Given the description of an element on the screen output the (x, y) to click on. 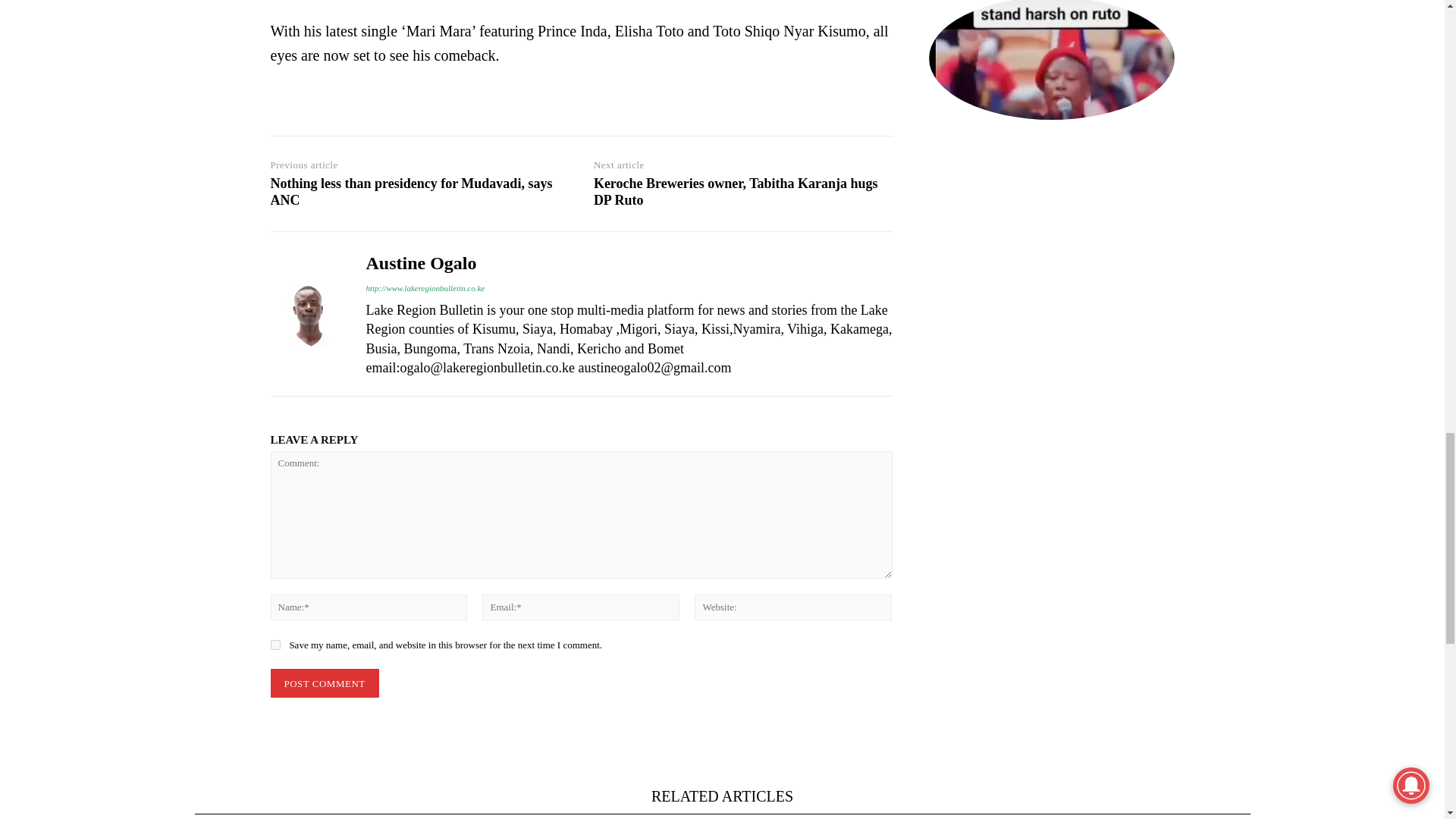
Post Comment (323, 683)
yes (274, 644)
